Given the description of an element on the screen output the (x, y) to click on. 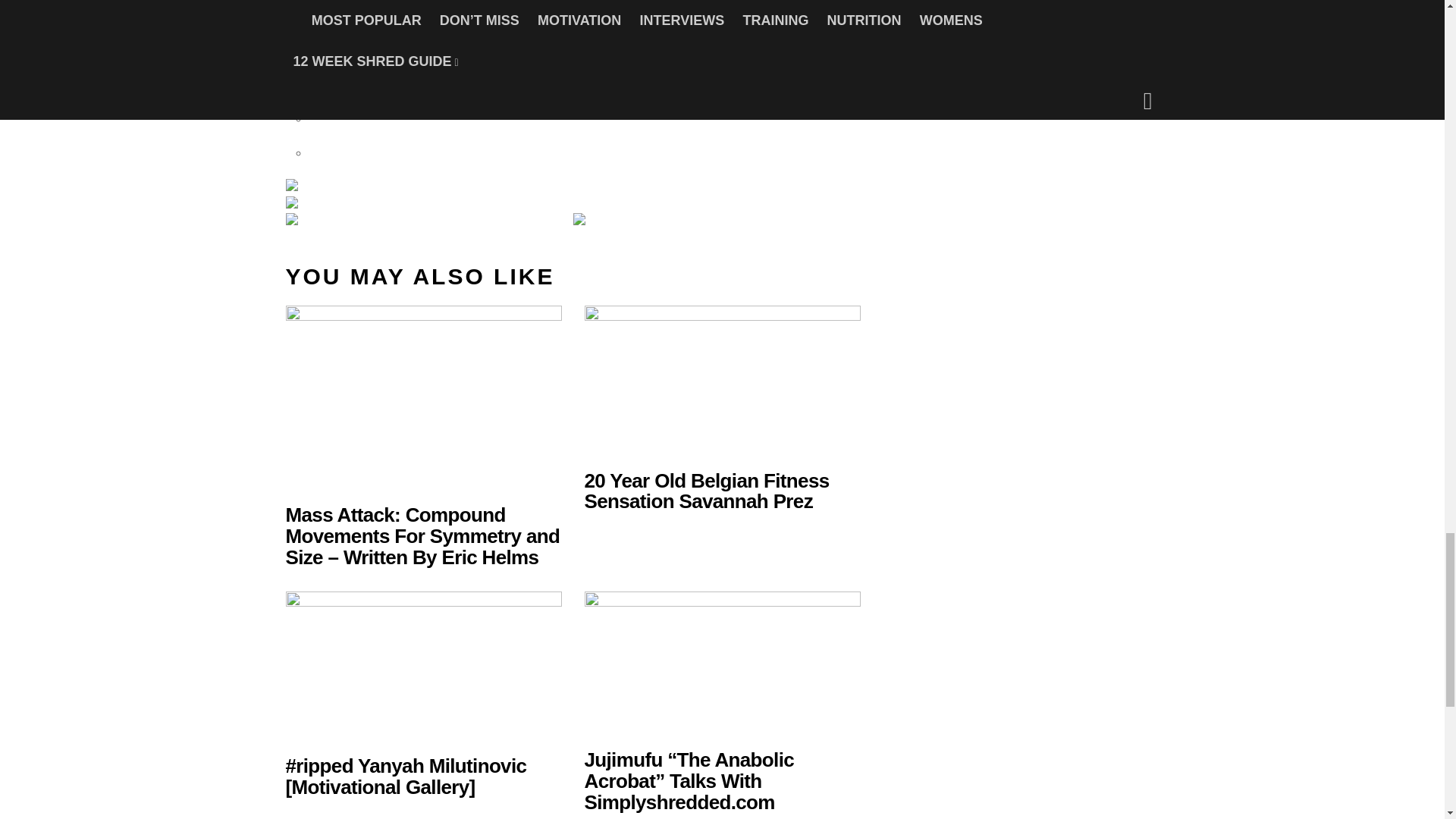
20 Year Old Belgian Fitness Sensation Savannah Prez (705, 490)
